Given the description of an element on the screen output the (x, y) to click on. 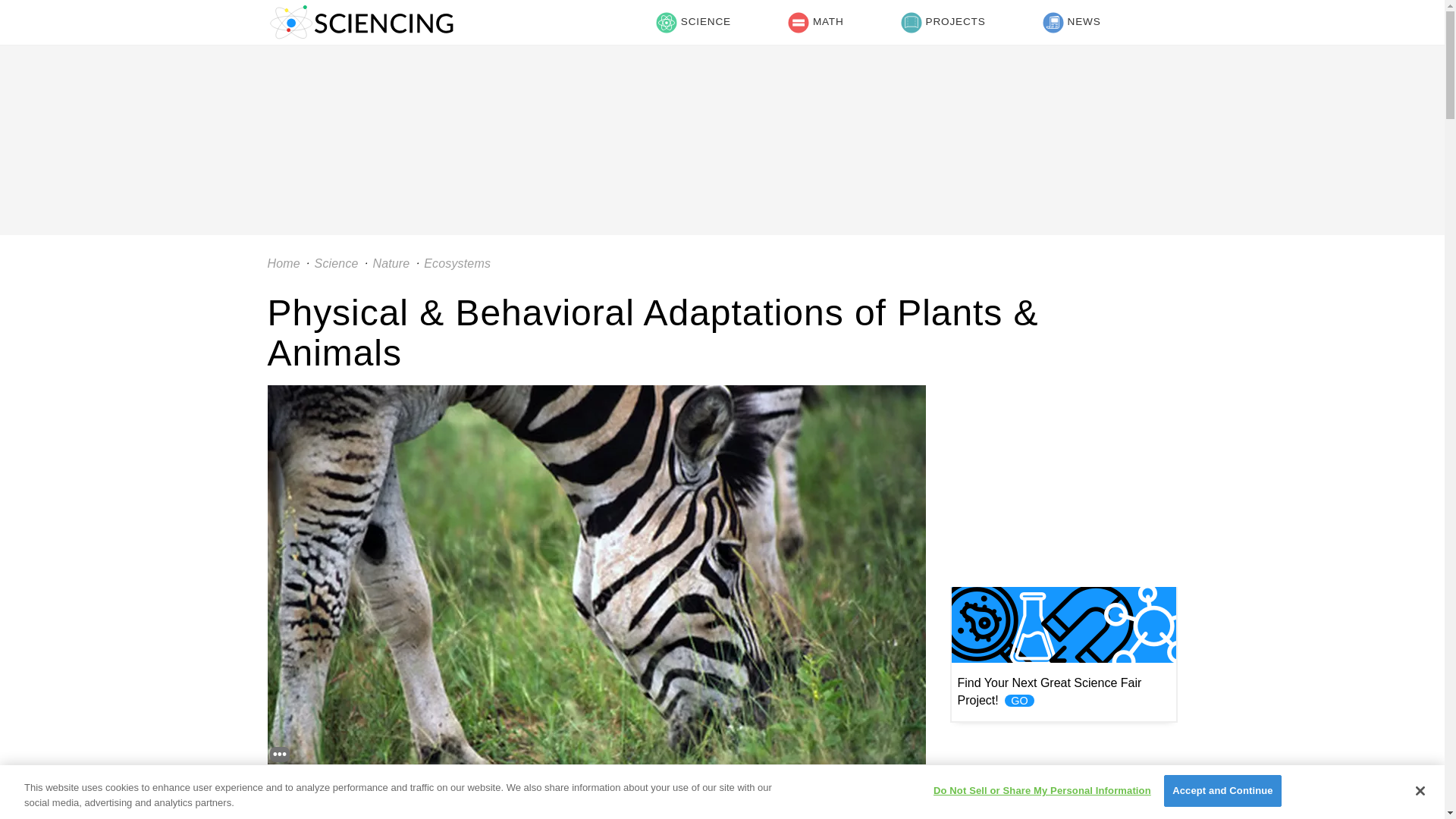
3rd party ad content (1062, 479)
MATH (814, 22)
SCIENCE (692, 22)
3rd party ad content (1062, 776)
3rd party ad content (721, 79)
